Given the description of an element on the screen output the (x, y) to click on. 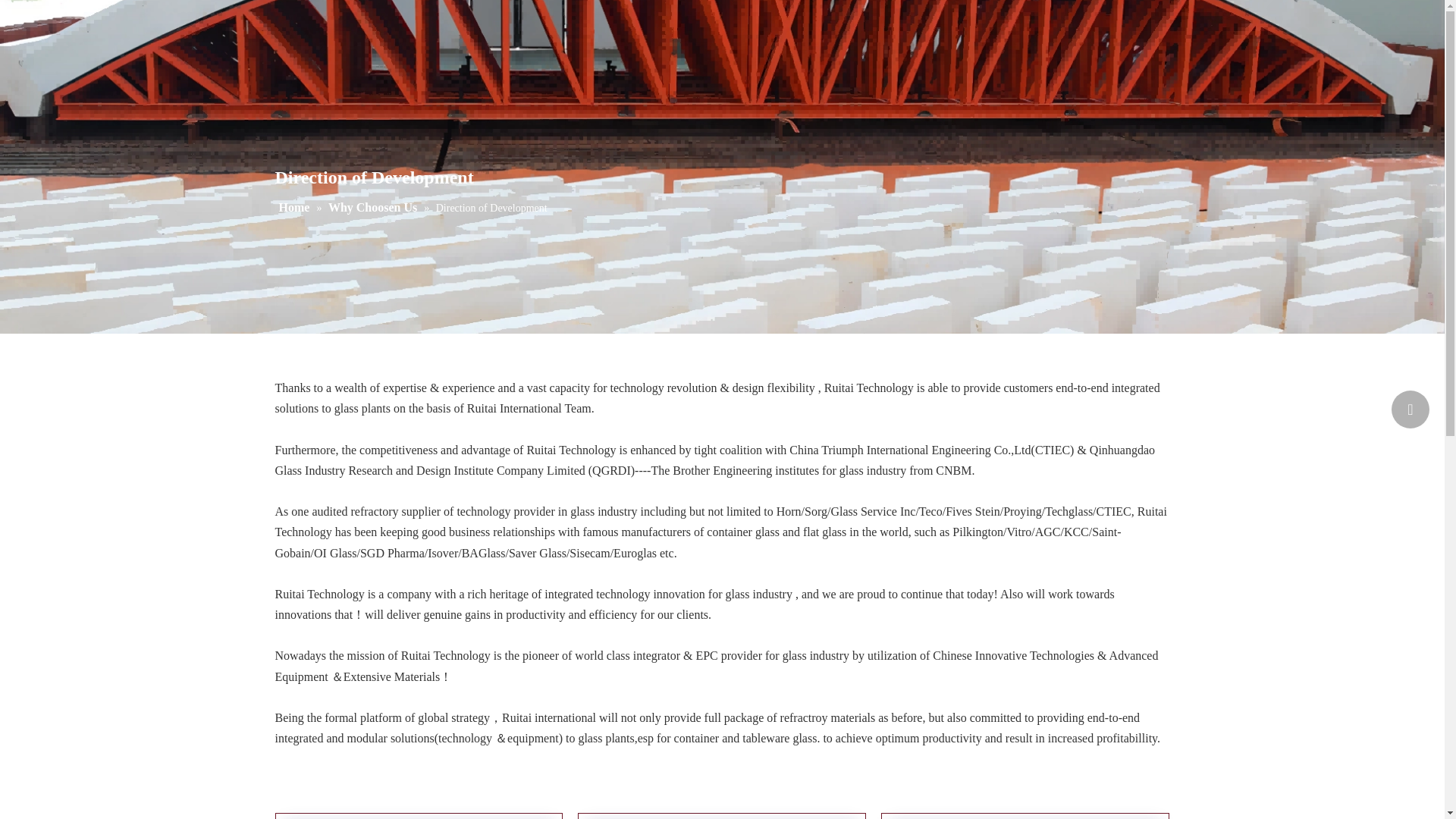
Why Choosen Us (374, 206)
Home (296, 206)
